Given the description of an element on the screen output the (x, y) to click on. 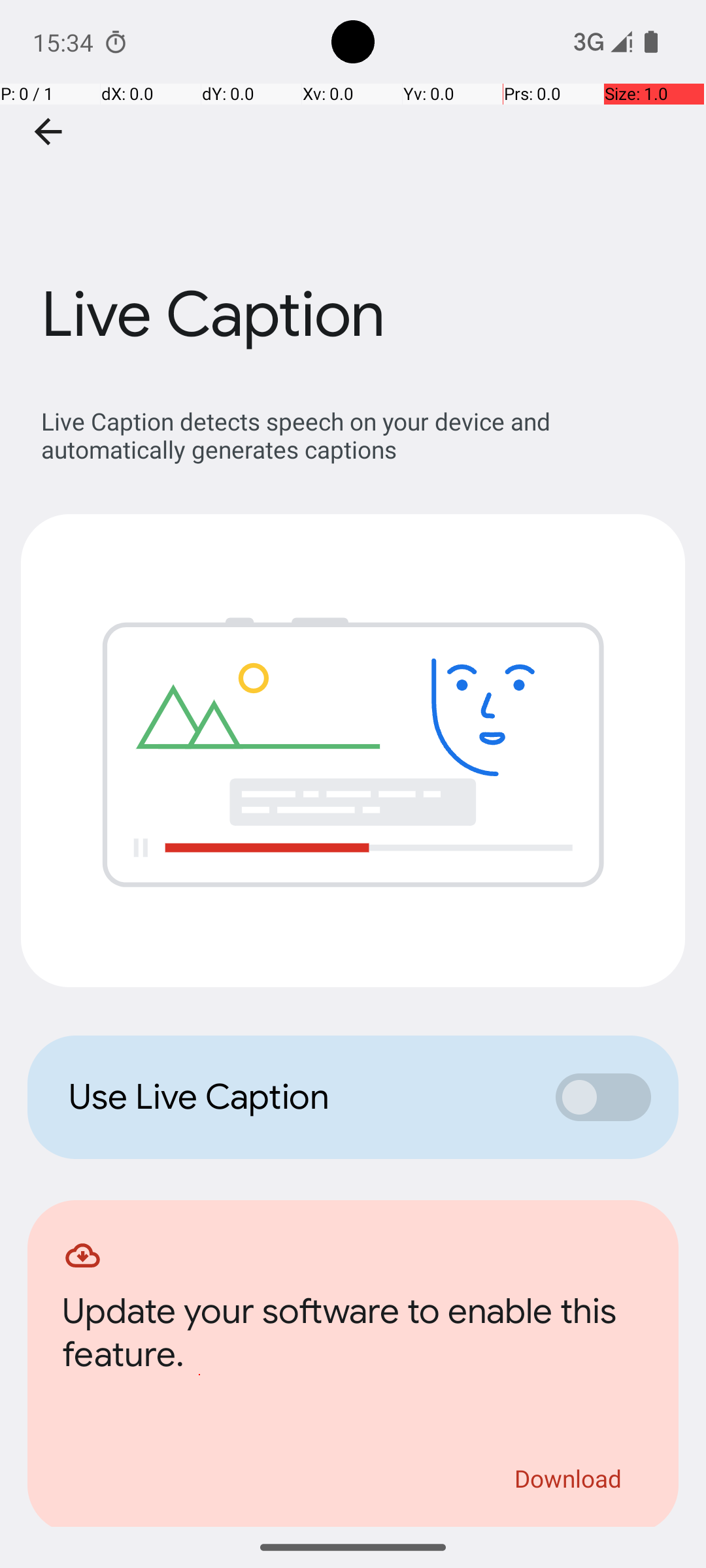
Live Caption detects speech on your device and automatically generates captions Element type: android.widget.TextView (359, 434)
Use Live Caption Element type: android.widget.TextView (298, 1096)
Update your software to enable this feature. Element type: android.widget.TextView (352, 1336)
